Given the description of an element on the screen output the (x, y) to click on. 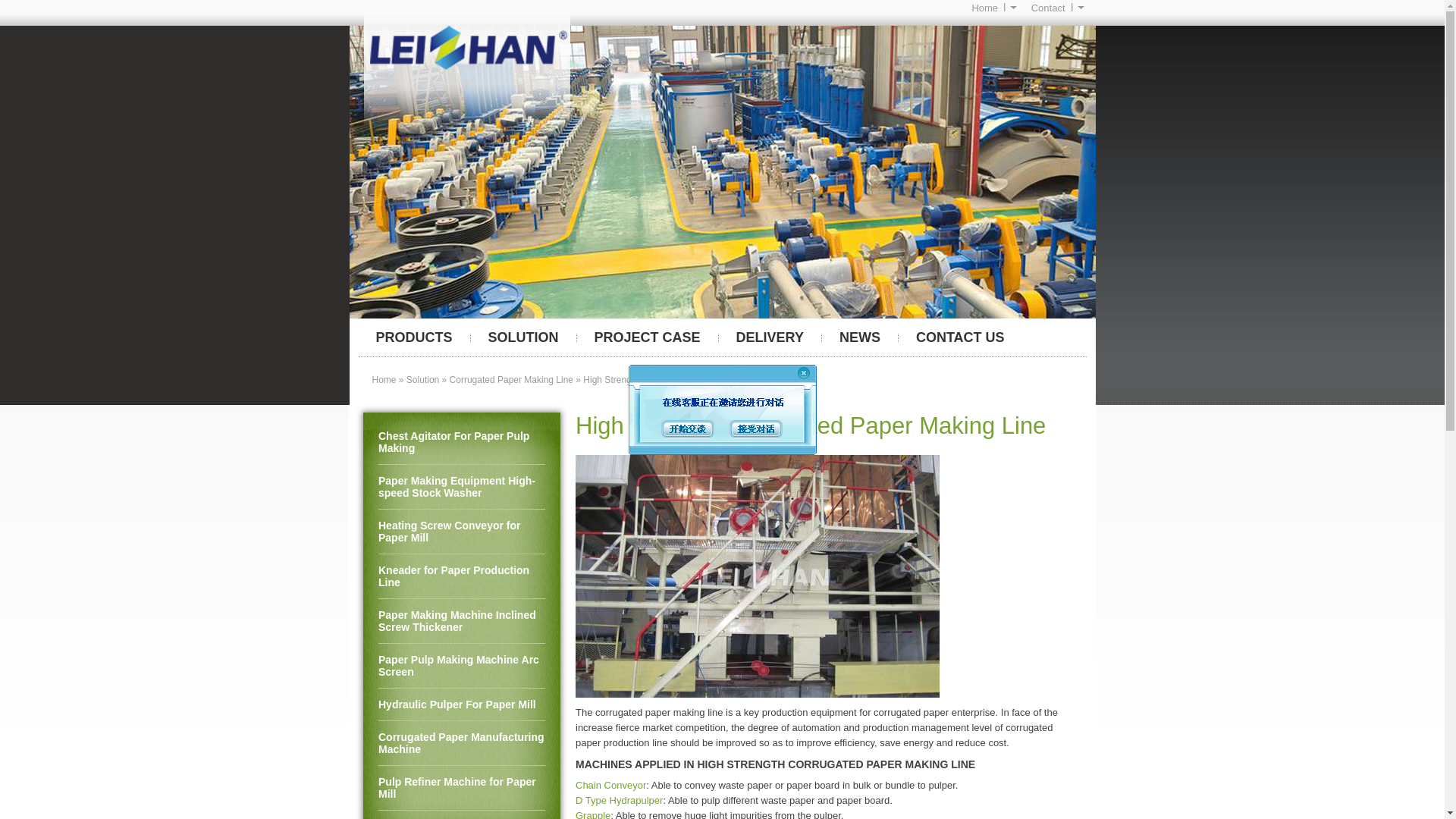
DELIVERY (770, 337)
Home (993, 7)
Home (383, 379)
Pulp Refiner Machine for Paper Mill (461, 787)
CONTACT US (960, 337)
Delivery (770, 337)
Corrugated Paper Making Line (511, 379)
Kneader for Paper Production Line (461, 576)
Disc Refiner For Paper Pulp (461, 814)
Heating Screw Conveyor for Paper Mill (461, 531)
Solution (523, 337)
Paper Making Equipment High-speed Stock Washer (461, 487)
SOLUTION (523, 337)
Solution (422, 379)
Paper Making Machine Inclined Screw Thickener (461, 620)
